Given the description of an element on the screen output the (x, y) to click on. 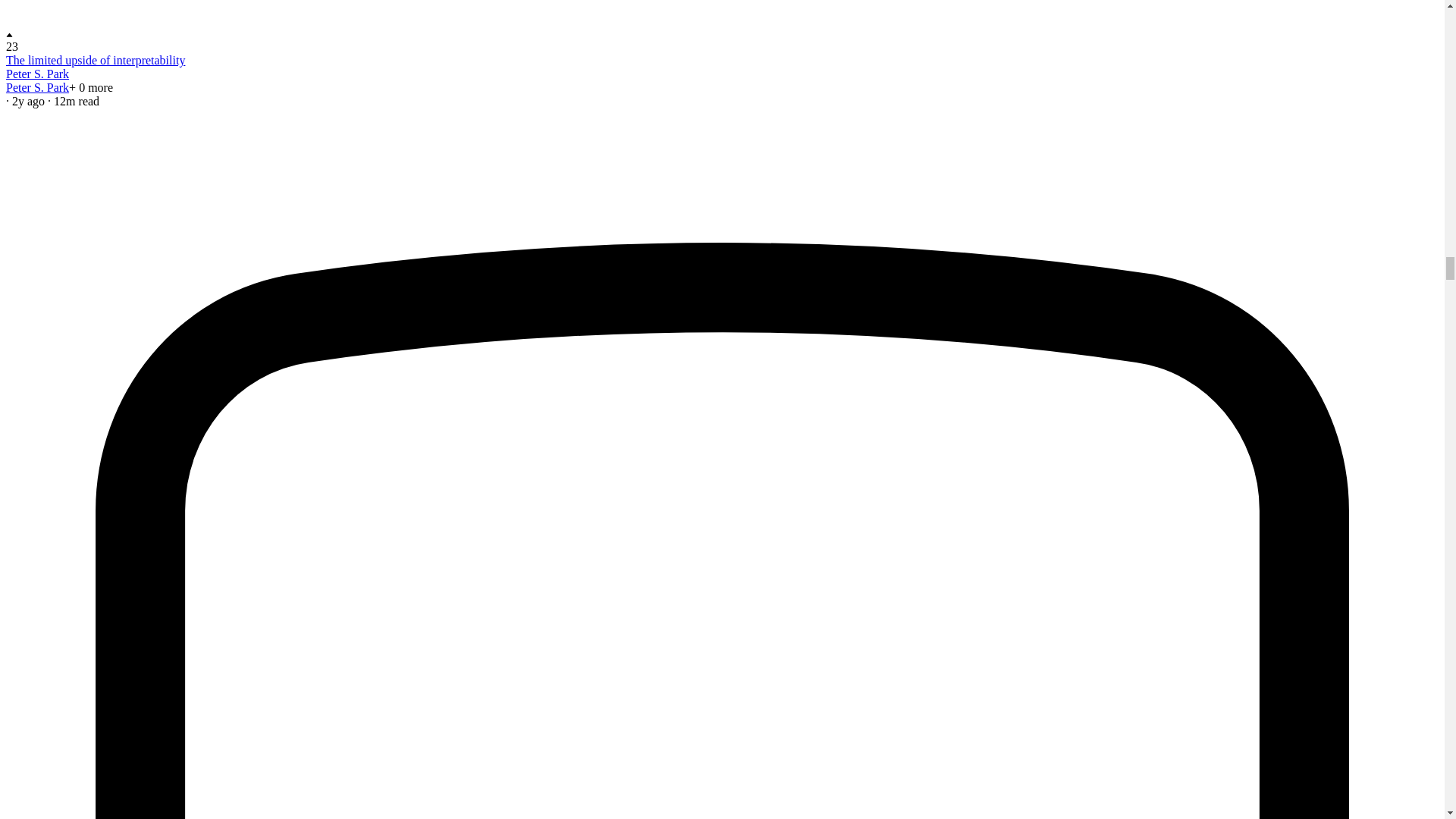
Peter S. Park (36, 73)
The limited upside of interpretability (94, 60)
Peter S. Park (36, 87)
